Given the description of an element on the screen output the (x, y) to click on. 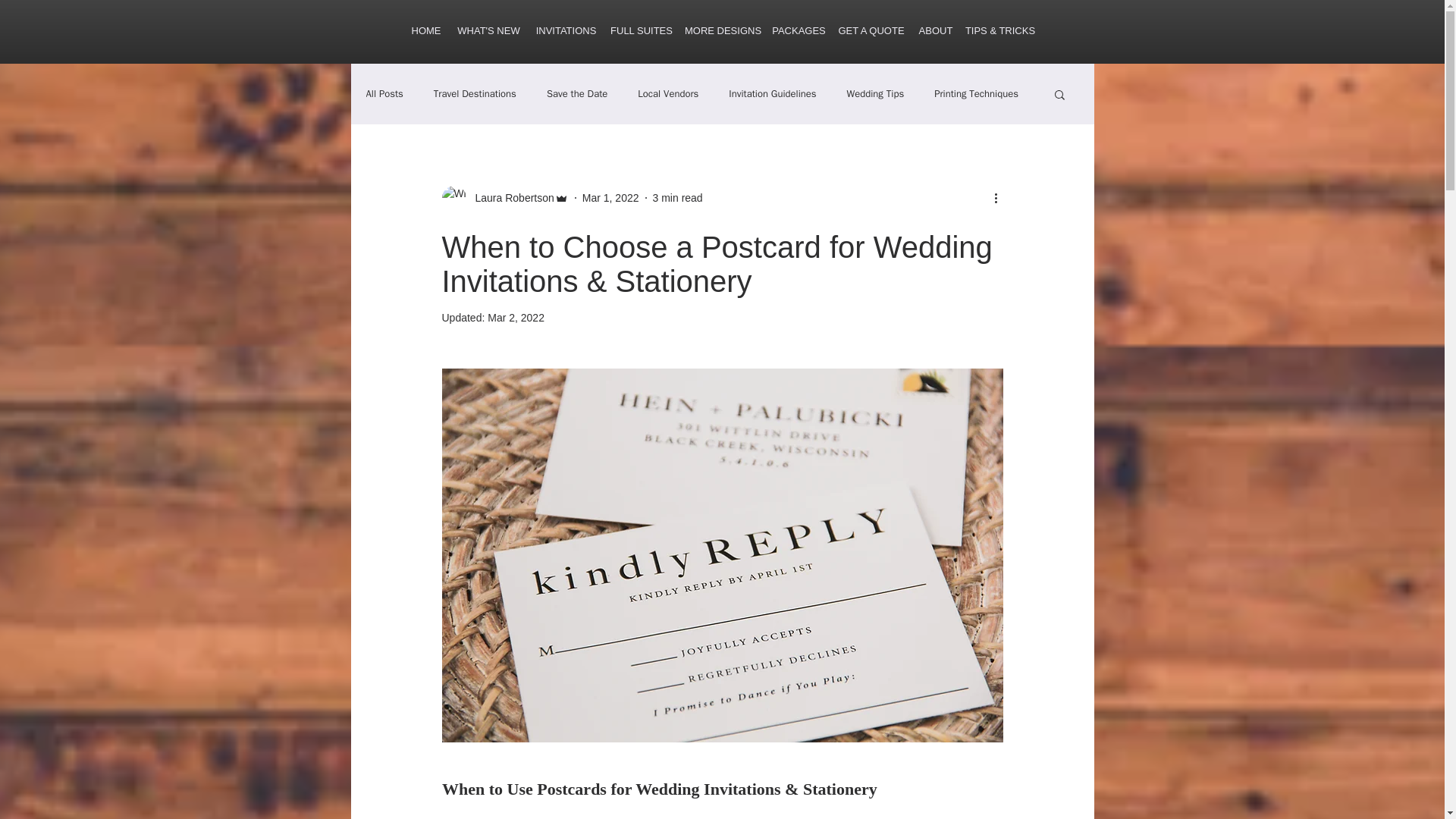
Local Vendors (667, 93)
Travel Destinations (474, 93)
Invitation Guidelines (772, 93)
Laura Robertson (504, 197)
INVITATIONS (566, 30)
Printing Techniques (975, 93)
Laura Robertson (509, 197)
3 min read (677, 196)
Mar 1, 2022 (610, 196)
ABOUT (935, 30)
